Given the description of an element on the screen output the (x, y) to click on. 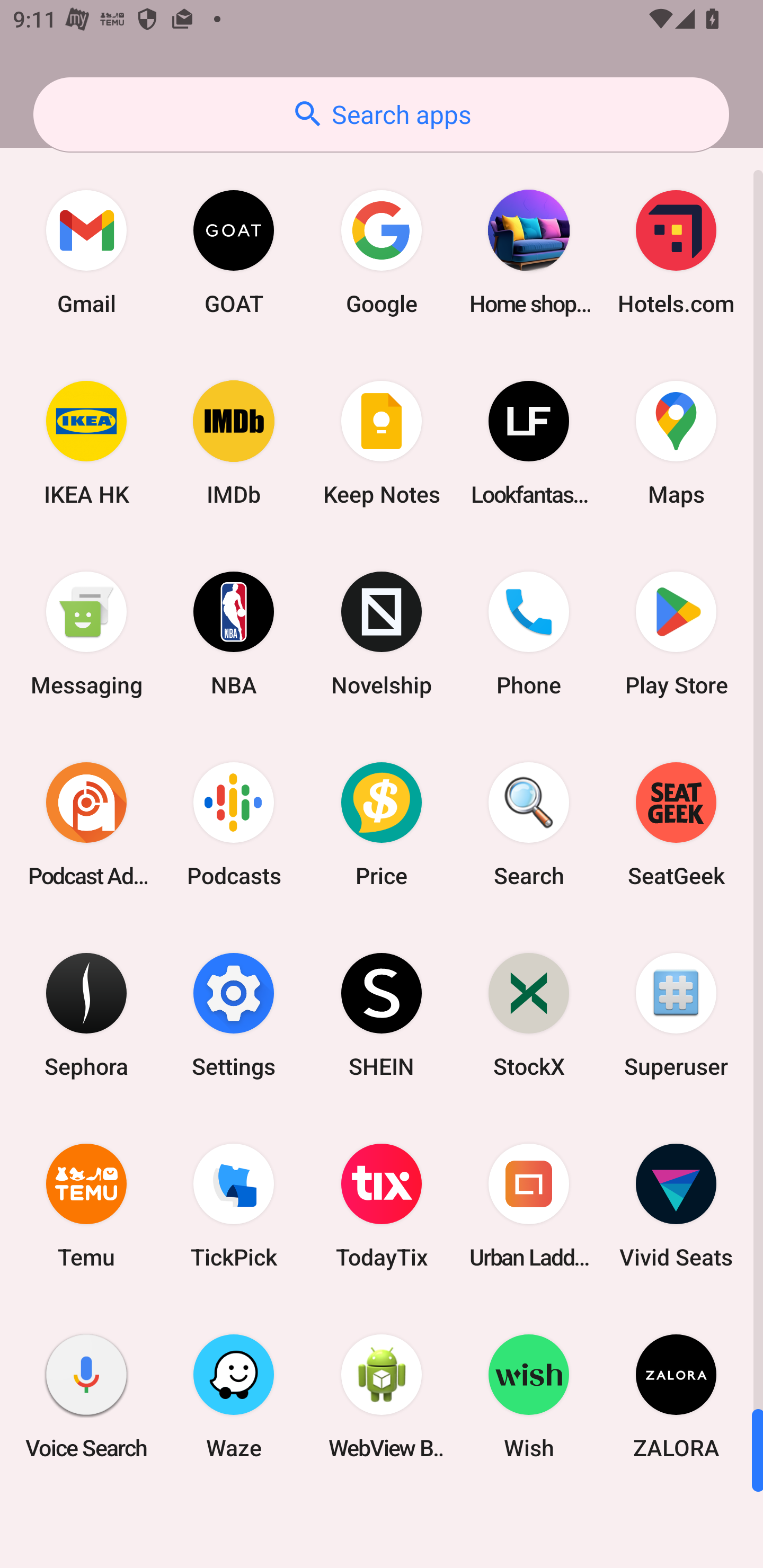
  Search apps (381, 114)
Gmail (86, 252)
GOAT (233, 252)
Google (381, 252)
Home shopping (528, 252)
Hotels.com (676, 252)
IKEA HK (86, 442)
IMDb (233, 442)
Keep Notes (381, 442)
Lookfantastic (528, 442)
Maps (676, 442)
Messaging (86, 633)
NBA (233, 633)
Novelship (381, 633)
Phone (528, 633)
Play Store (676, 633)
Podcast Addict (86, 823)
Podcasts (233, 823)
Price (381, 823)
Search (528, 823)
SeatGeek (676, 823)
Sephora (86, 1014)
Settings (233, 1014)
SHEIN (381, 1014)
StockX (528, 1014)
Superuser (676, 1014)
Temu (86, 1205)
TickPick (233, 1205)
TodayTix (381, 1205)
Urban Ladder (528, 1205)
Vivid Seats (676, 1205)
Voice Search (86, 1396)
Waze (233, 1396)
WebView Browser Tester (381, 1396)
Wish (528, 1396)
ZALORA (676, 1396)
